Given the description of an element on the screen output the (x, y) to click on. 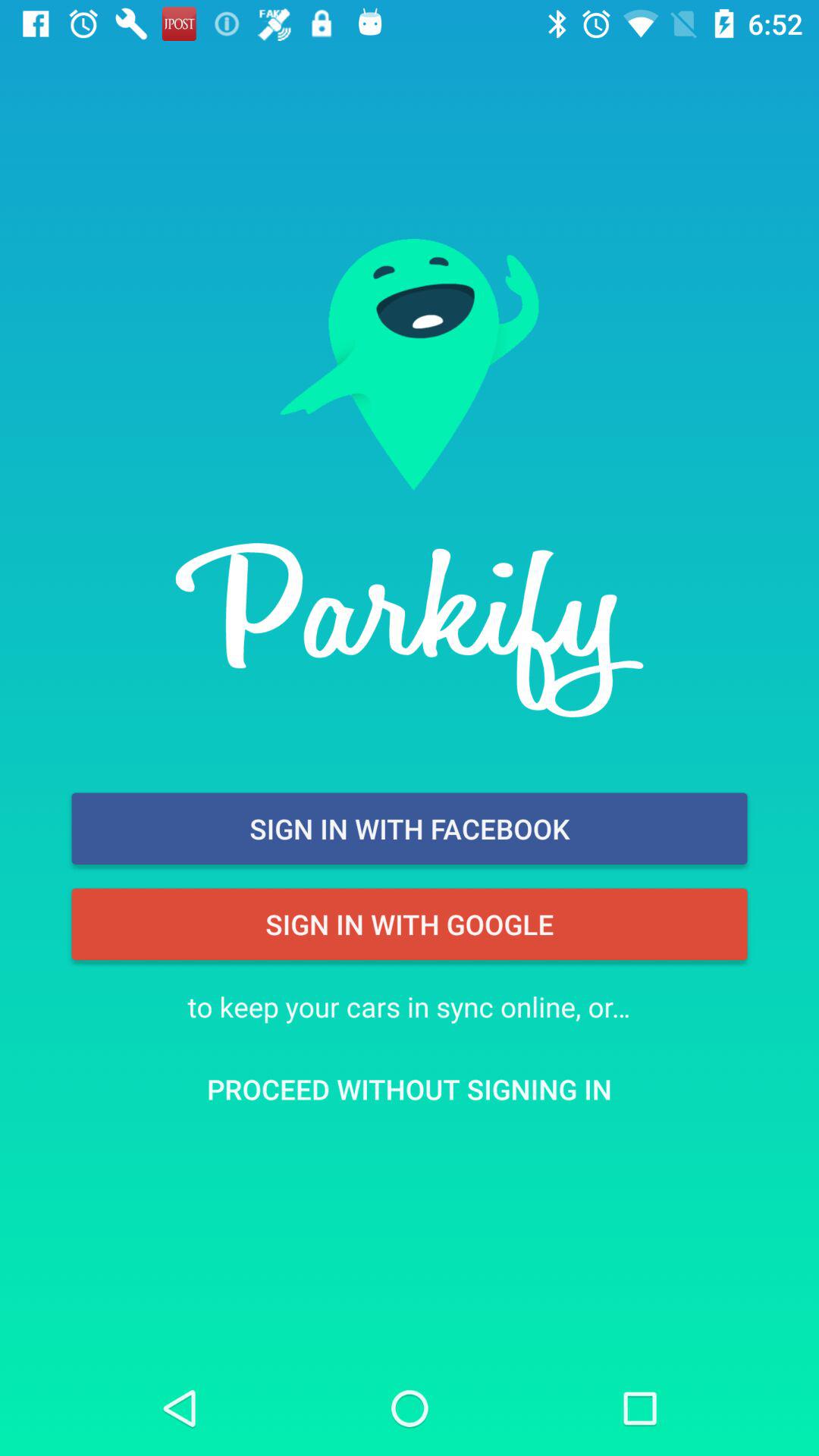
choose the proceed without signing item (409, 1088)
